Given the description of an element on the screen output the (x, y) to click on. 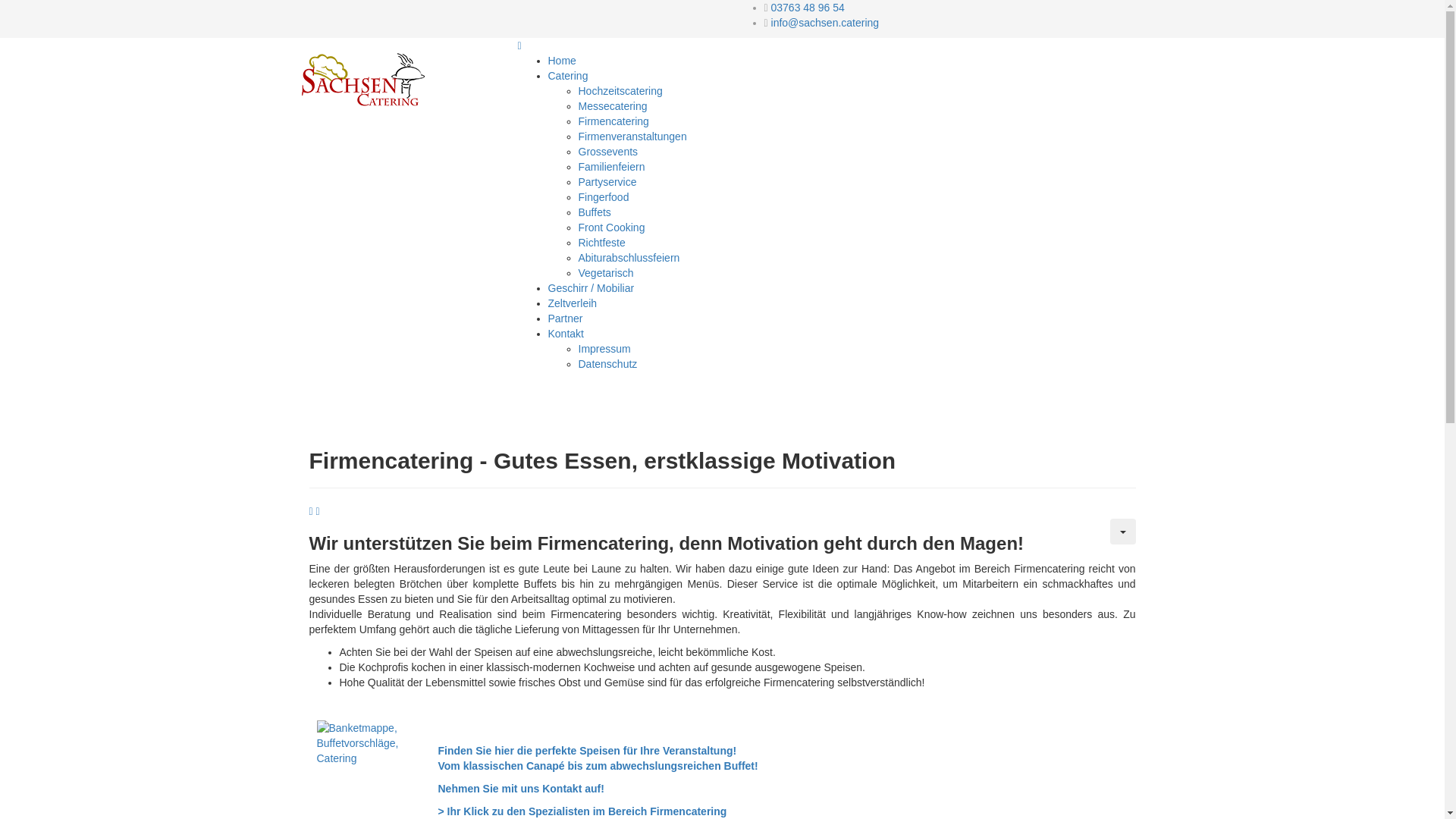
Front Cooking Element type: text (610, 227)
Previous Element type: text (312, 511)
Familienfeiern Element type: text (610, 166)
Zeltverleih Element type: text (571, 303)
Kontakt Element type: text (565, 333)
Hochzeitscatering Element type: text (619, 90)
03763 48 96 54 Element type: text (807, 7)
Geschirr / Mobiliar Element type: text (590, 288)
Messecatering Element type: text (611, 106)
Home Element type: text (561, 60)
Vegetarisch Element type: text (605, 272)
Nehmen Sie mit uns Kontakt auf! Element type: text (521, 788)
Partyservice Element type: text (606, 181)
Abiturabschlussfeiern Element type: text (628, 257)
Fingerfood Element type: text (602, 197)
Richtfeste Element type: text (600, 242)
Partner Element type: text (564, 318)
Datenschutz Element type: text (607, 363)
Next Element type: text (318, 511)
Buffets Element type: text (593, 212)
> Ihr Klick zu den Spezialisten im Bereich Firmencatering Element type: text (582, 811)
Grossevents Element type: text (607, 151)
Firmenveranstaltungen Element type: text (631, 136)
Impressum Element type: text (603, 348)
Catering Element type: text (567, 75)
Firmencatering Element type: text (612, 121)
info@sachsen.catering Element type: text (825, 22)
